Given the description of an element on the screen output the (x, y) to click on. 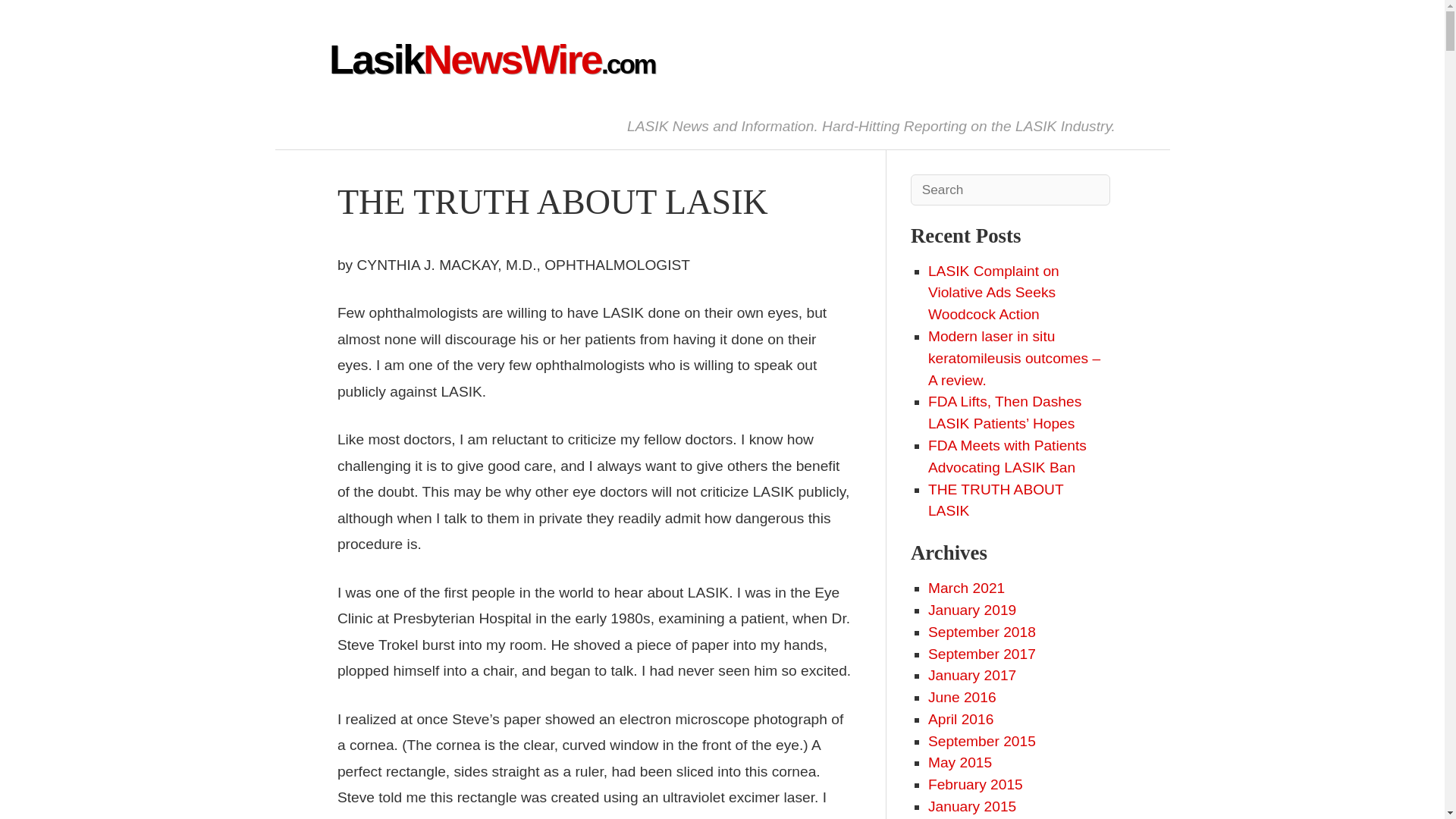
Search (45, 18)
LASIK Complaint on Violative Ads Seeks Woodcock Action (993, 292)
THE TRUTH ABOUT LASIK (995, 500)
June 2016 (961, 697)
September 2018 (981, 631)
September 2015 (981, 741)
January 2017 (972, 675)
April 2016 (960, 719)
March 2021 (966, 587)
Lasik News Wire (492, 58)
